Given the description of an element on the screen output the (x, y) to click on. 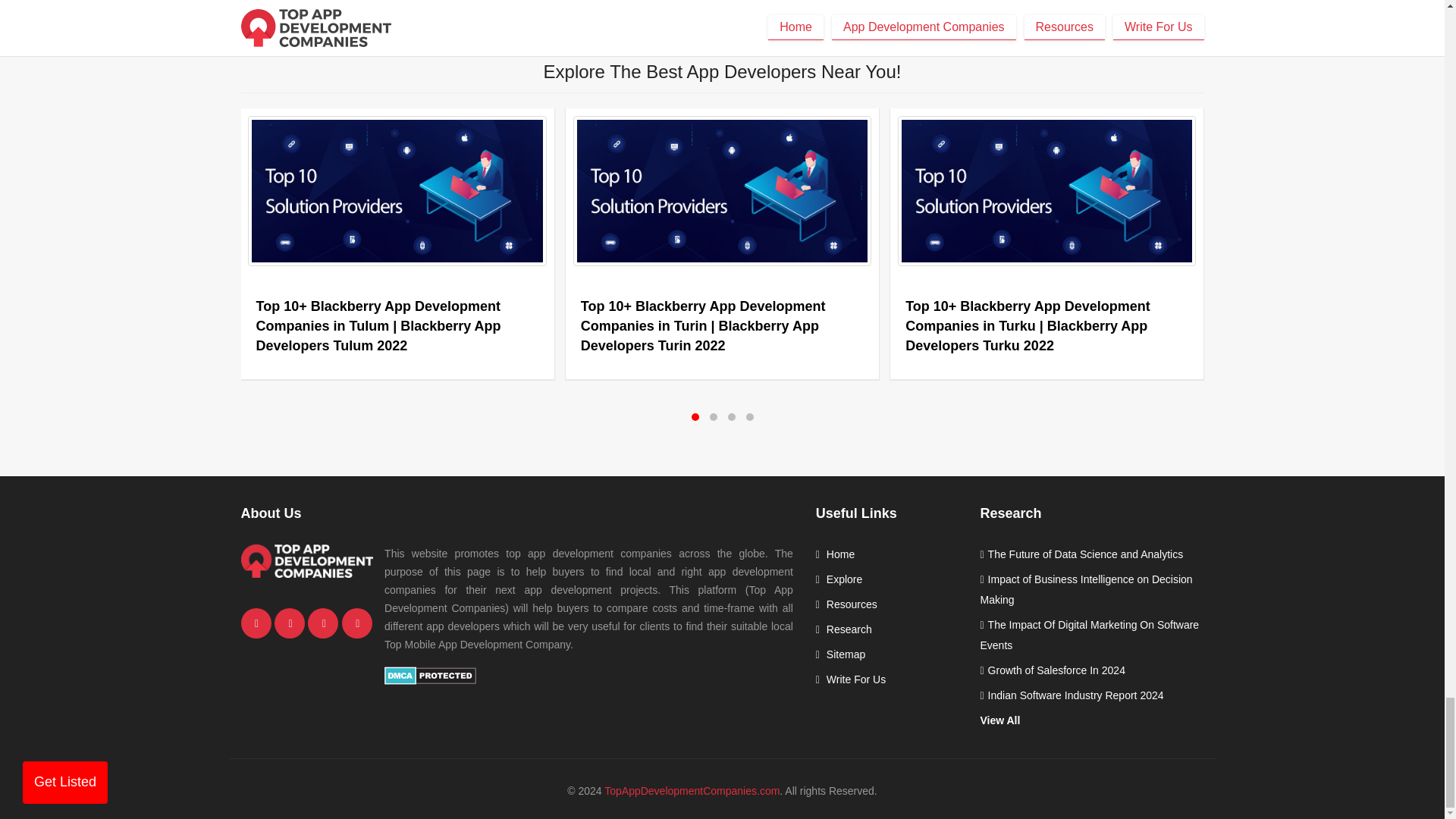
Blackberry App development companies in turku (1046, 191)
Blackberry App development companies in tulum (396, 191)
Blackberry App development companies in turin (721, 191)
